Given the description of an element on the screen output the (x, y) to click on. 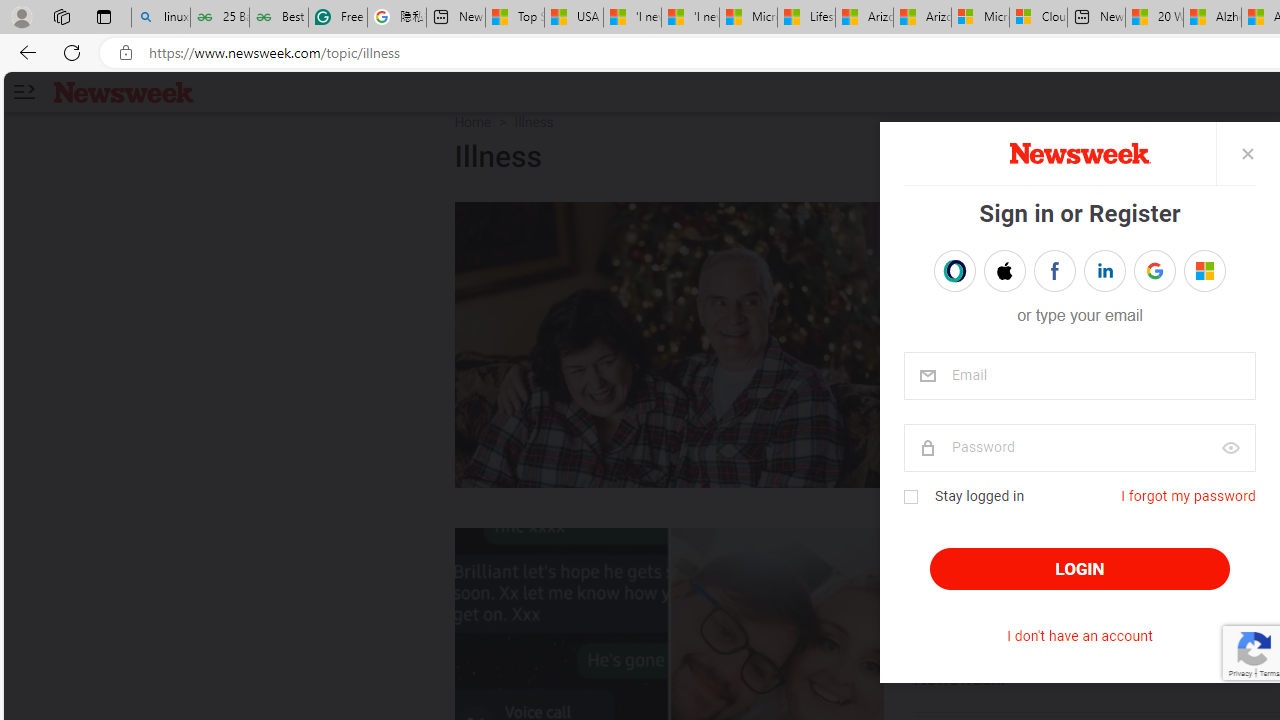
Free AI Writing Assistance for Students | Grammarly (337, 17)
linux basic - Search (160, 17)
I don't have an account (1079, 636)
Sign in with LINKEDIN (1104, 270)
Best SSL Certificates Provider in India - GeeksforGeeks (278, 17)
Sign in with FACEBOOK (1054, 270)
Sign in with OPENPASS (954, 270)
MY TURN (963, 222)
ON THE INTERNET (1014, 548)
Microsoft Services Agreement (980, 17)
